Given the description of an element on the screen output the (x, y) to click on. 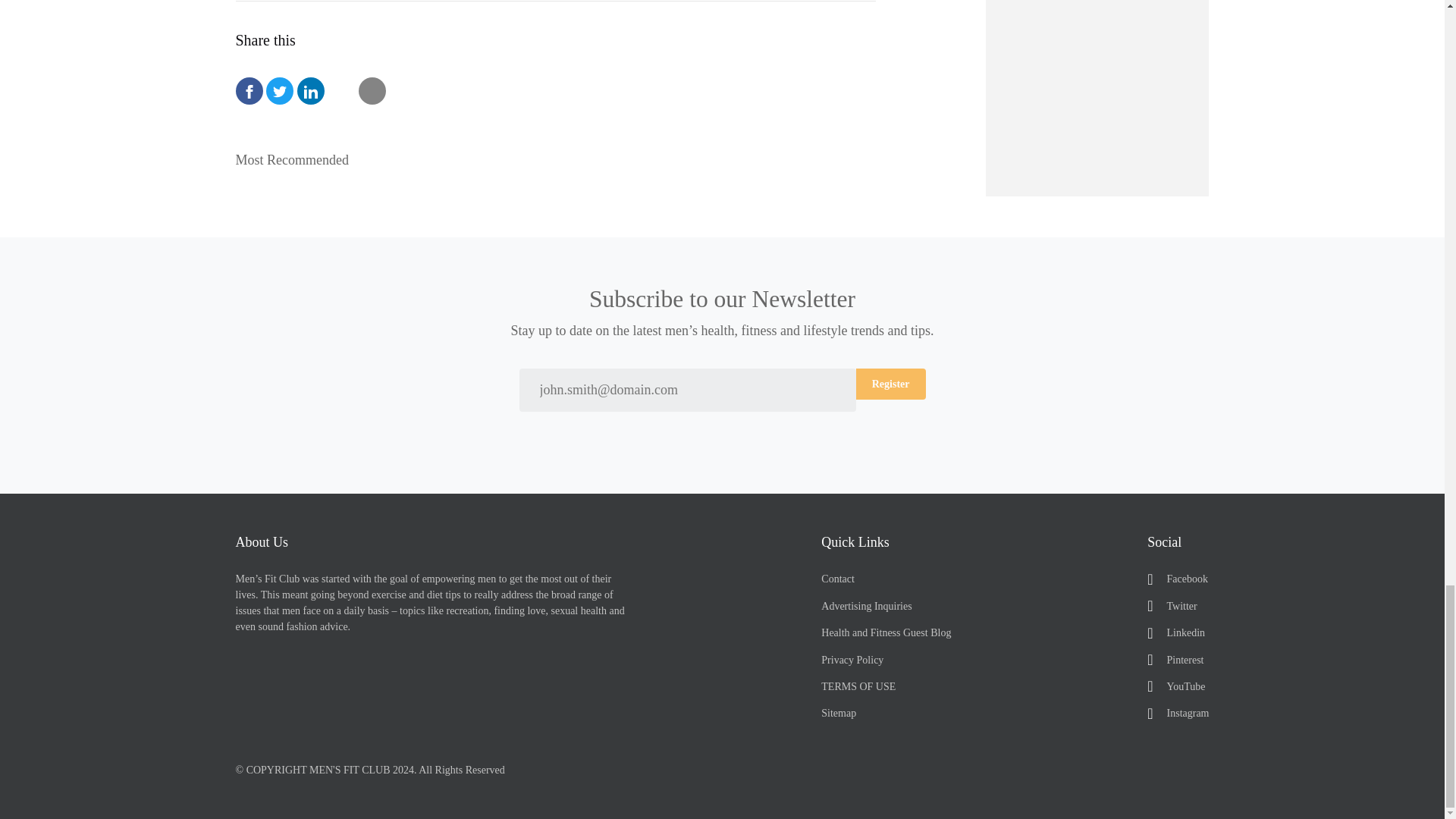
Health and Fitness Guest Blog (885, 632)
Privacy Policy (885, 659)
YouTube (1177, 686)
Sitemap (885, 713)
Twitter (1177, 606)
Linkedin (1177, 632)
Pinterest (1177, 659)
Advertising Inquiries (885, 606)
Register (891, 384)
TERMS OF USE (885, 686)
Contact (885, 578)
Facebook (1177, 578)
Register (891, 384)
Instagram (1177, 713)
